Given the description of an element on the screen output the (x, y) to click on. 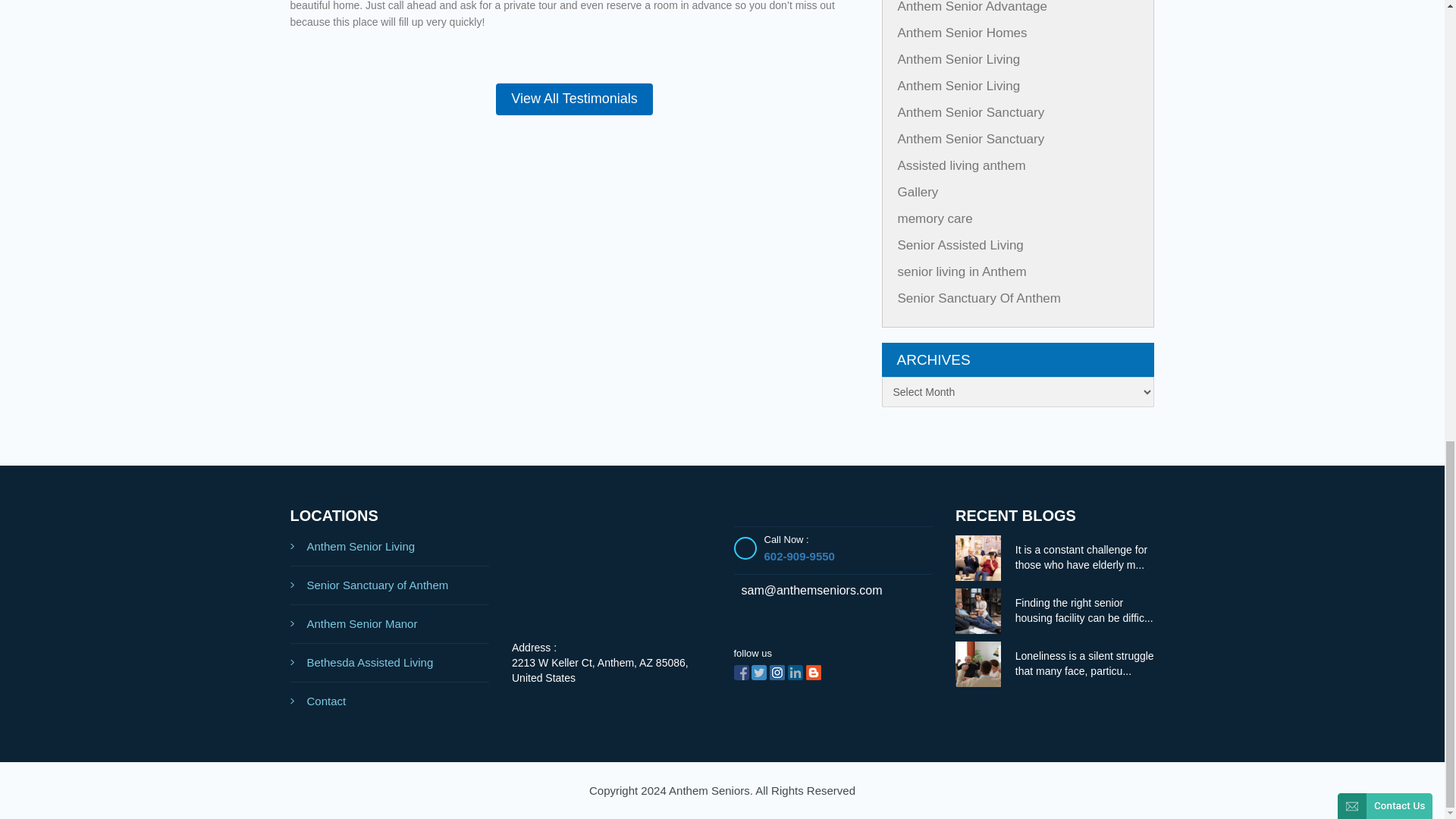
Anthem Senior Living (959, 85)
Anthem Senior Homes (962, 32)
memory care (935, 218)
Anthem Senior Manor (389, 624)
Bethesda Assisted Living (389, 662)
Anthem Senior Sanctuary (971, 138)
View All Testimonials (574, 99)
Gallery (918, 192)
Anthem Senior Sanctuary (971, 112)
Anthem Senior Advantage (973, 6)
Senior Sanctuary Of Anthem (979, 298)
Anthem Senior Living (959, 59)
senior living in Anthem (962, 271)
Assisted living anthem (962, 165)
Anthem Senior Living (389, 546)
